Given the description of an element on the screen output the (x, y) to click on. 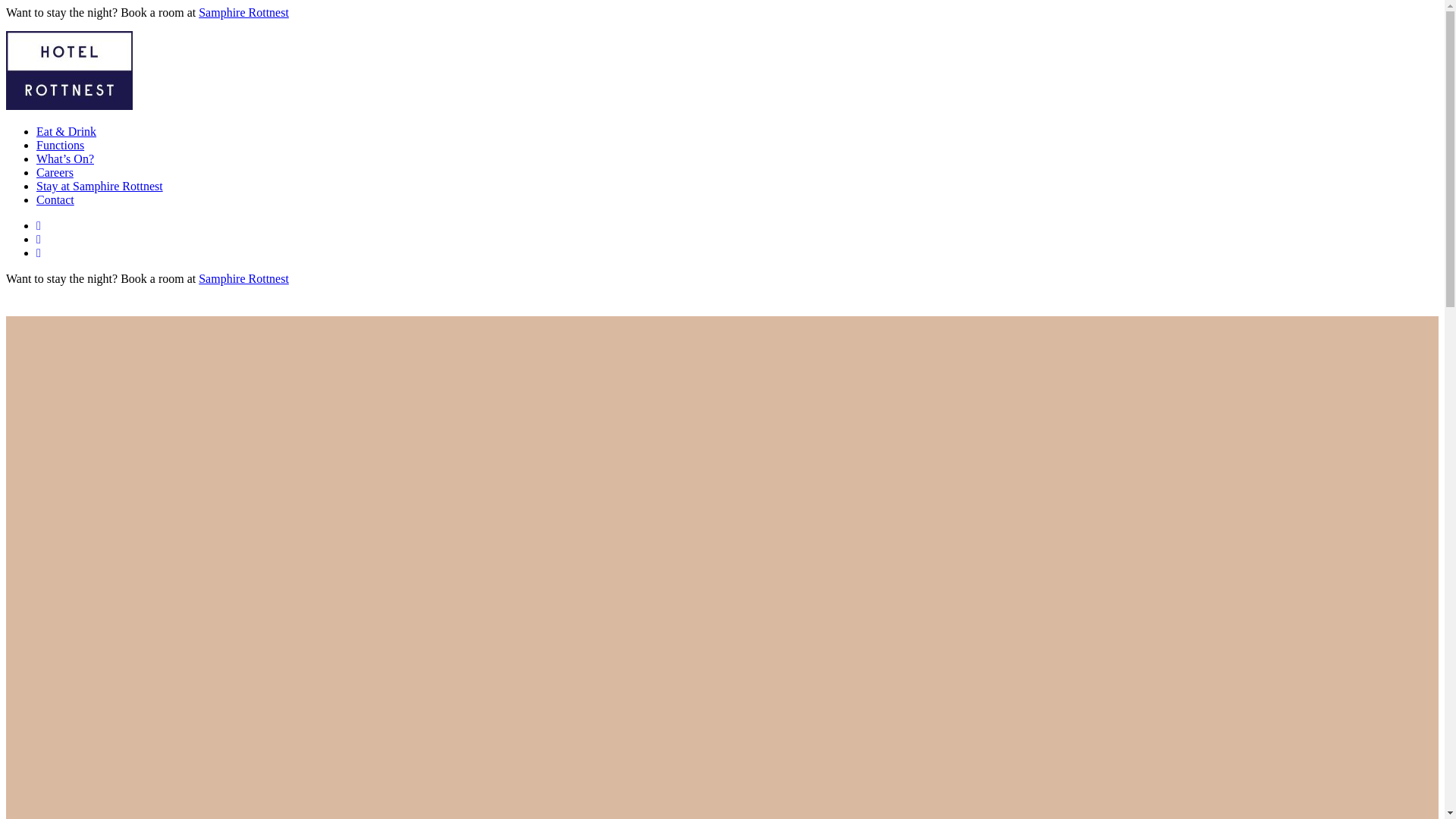
Contact Element type: text (55, 199)
Samphire Rottnest Element type: text (243, 12)
Hotel Rottnest Element type: hover (29, 308)
Careers Element type: text (54, 172)
Instagram Element type: hover (38, 225)
Tripadvisor Element type: hover (38, 252)
Eat & Drink Element type: text (66, 131)
Functions Element type: text (60, 144)
Hotel Rottnest Element type: hover (69, 105)
Facebook Element type: hover (38, 238)
Stay at Samphire Rottnest Element type: text (99, 185)
Samphire Rottnest Element type: text (243, 278)
Hotel Rottnest Element type: hover (158, 105)
